Given the description of an element on the screen output the (x, y) to click on. 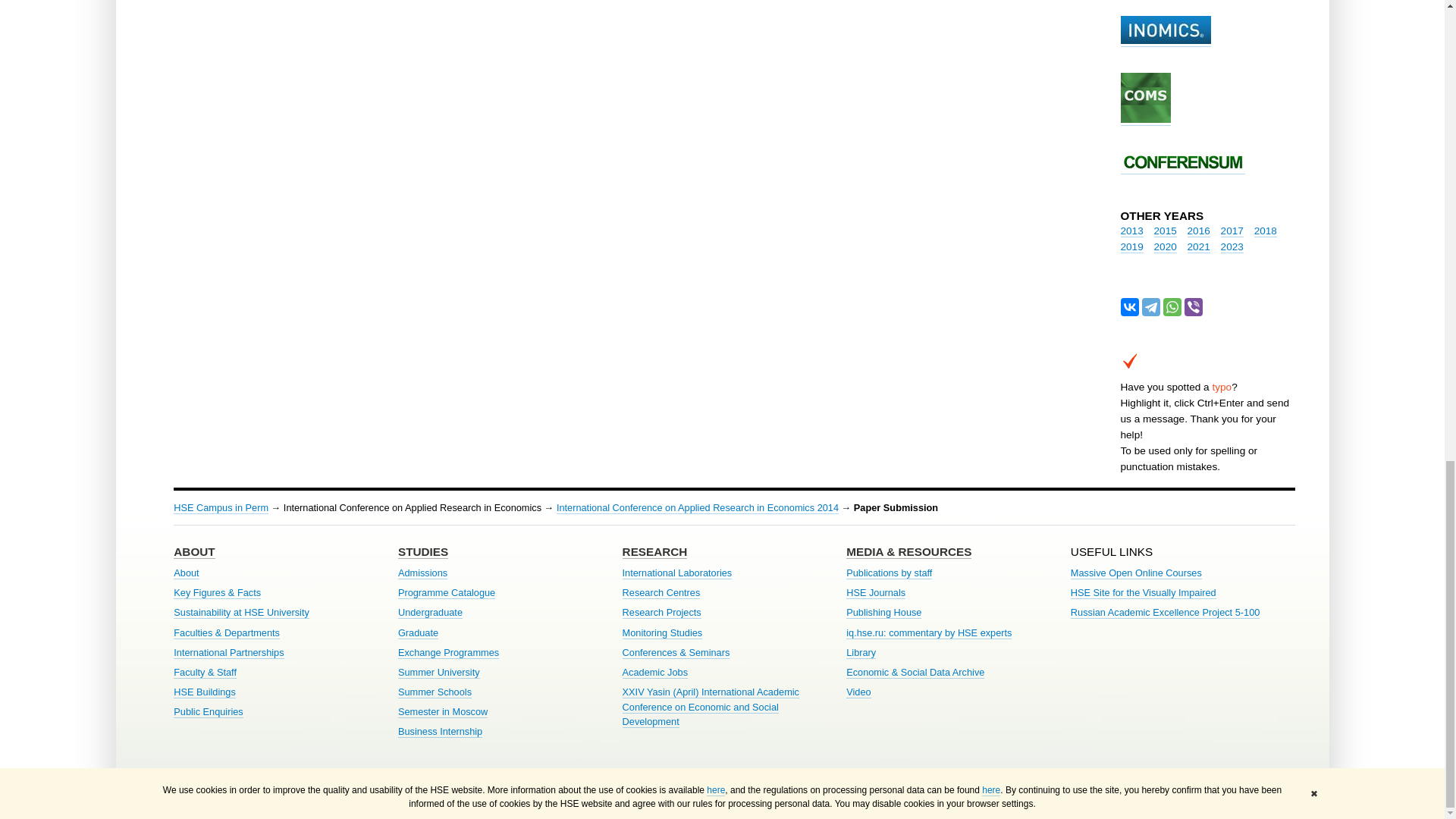
Viber (1193, 307)
WhatsApp (1171, 307)
VKontakte (1129, 307)
Telegram (1150, 307)
